Given the description of an element on the screen output the (x, y) to click on. 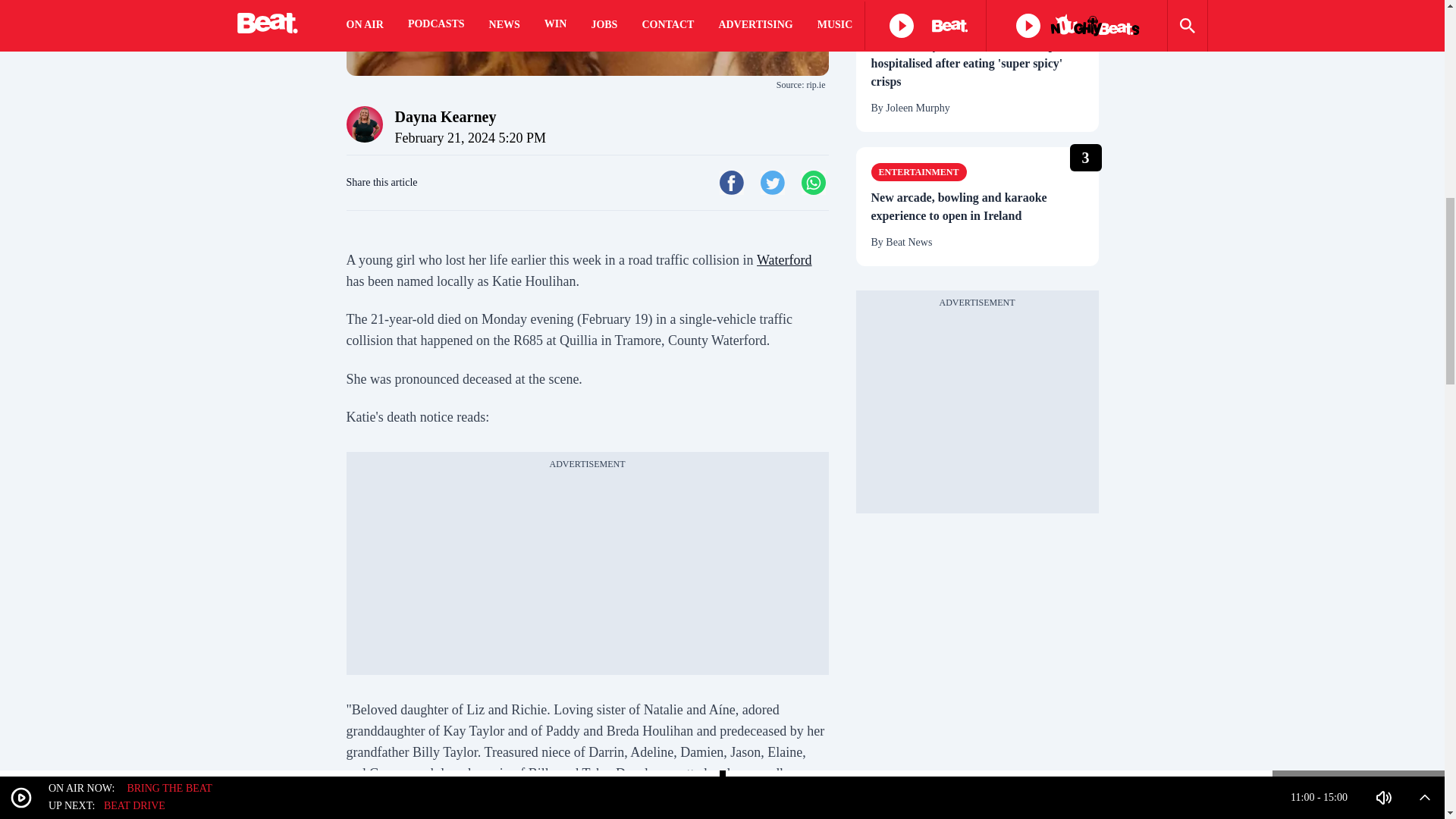
Entertainment (918, 171)
News (891, 19)
